Given the description of an element on the screen output the (x, y) to click on. 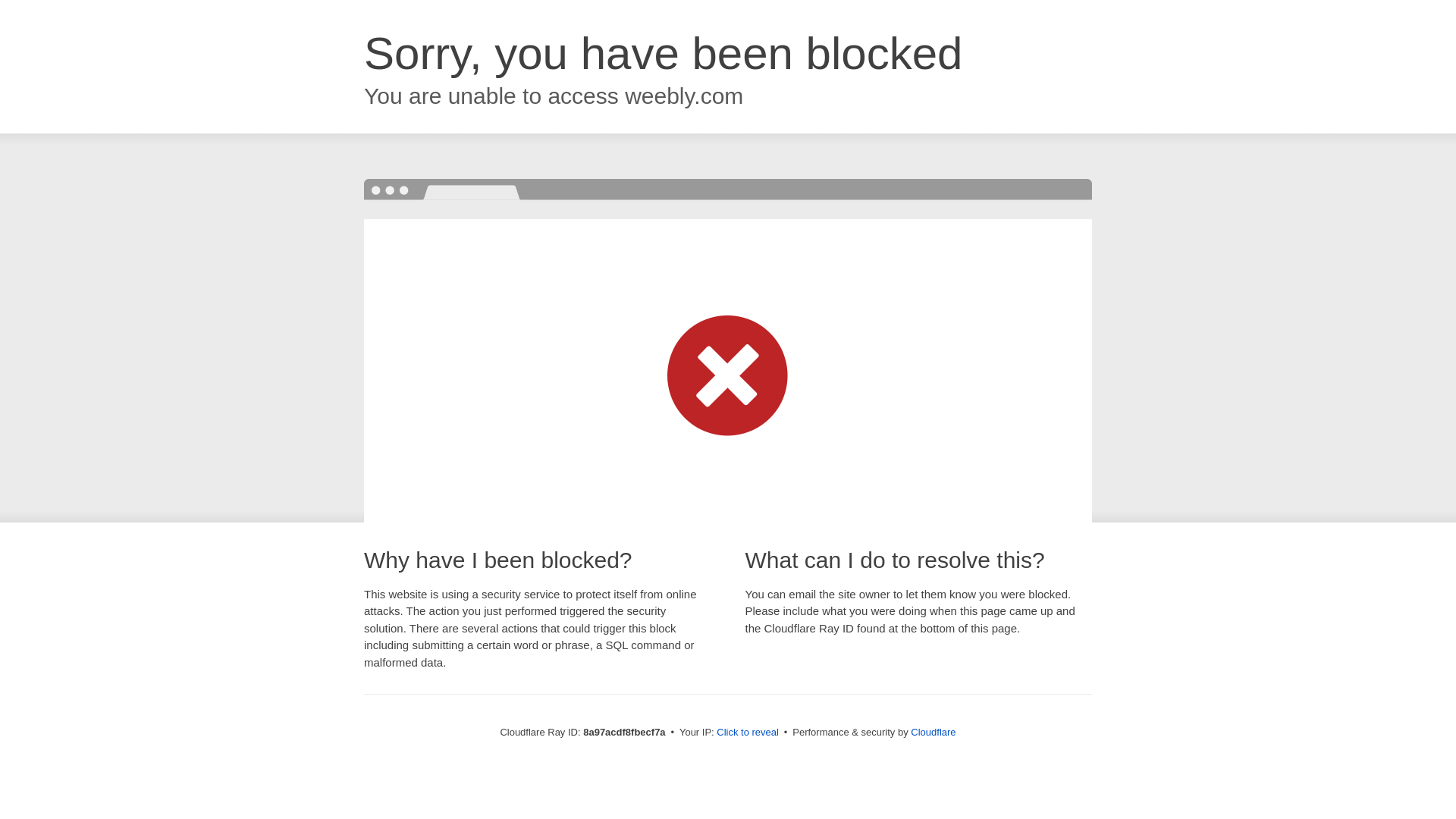
Click to reveal (747, 732)
Cloudflare (933, 731)
